Given the description of an element on the screen output the (x, y) to click on. 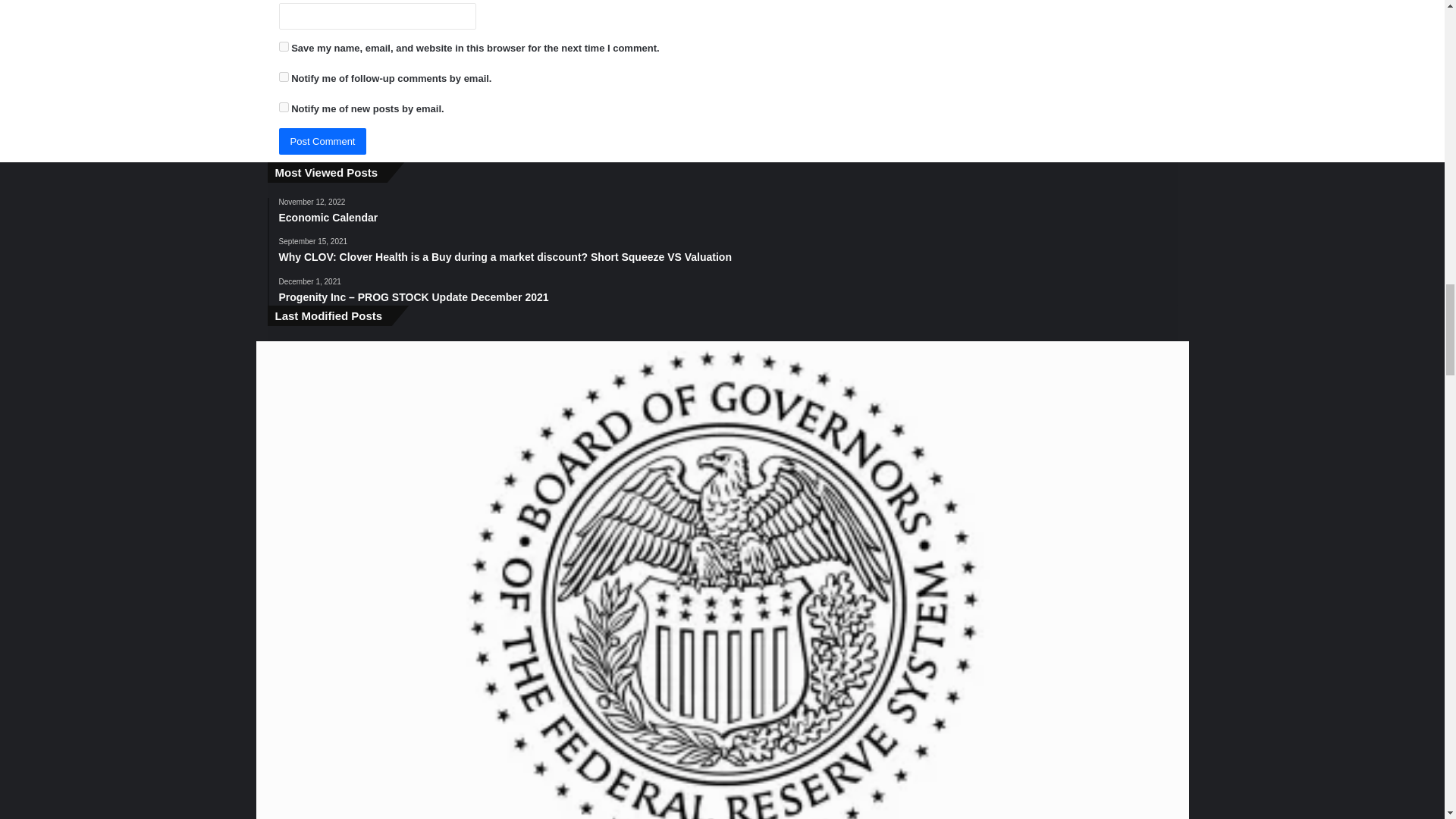
yes (283, 46)
Post Comment (322, 140)
subscribe (283, 76)
subscribe (283, 107)
